Given the description of an element on the screen output the (x, y) to click on. 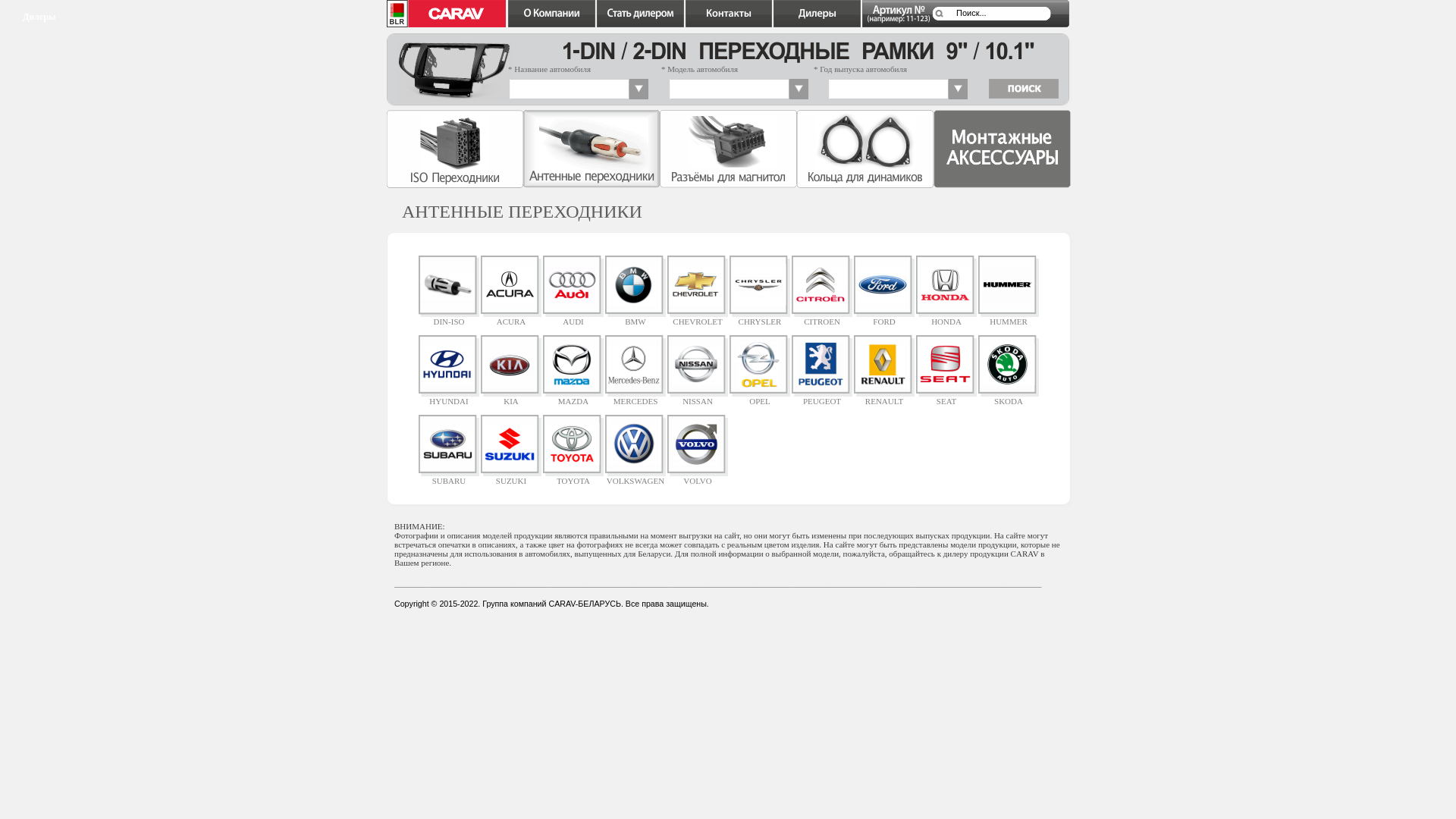
SKODA Element type: text (1008, 397)
NISSAN Element type: text (697, 397)
OPEL Element type: text (759, 397)
VOLVO Element type: text (697, 476)
KIA Element type: text (510, 397)
ACURA Element type: text (510, 317)
HYUNDAI Element type: text (448, 397)
PEUGEOT Element type: text (821, 397)
SUZUKI Element type: text (510, 476)
HONDA Element type: text (946, 317)
VOLKSWAGEN Element type: text (635, 476)
SEAT Element type: text (946, 397)
SUBARU Element type: text (448, 476)
AUDI Element type: text (572, 317)
CHRYSLER Element type: text (759, 317)
MAZDA Element type: text (572, 397)
TOYOTA Element type: text (572, 476)
CITROEN Element type: text (821, 317)
BMW Element type: text (635, 317)
FORD Element type: text (883, 317)
DIN-ISO Element type: text (448, 317)
RENAULT Element type: text (883, 397)
HUMMER Element type: text (1008, 317)
CHEVROLET Element type: text (697, 317)
MERCEDES Element type: text (635, 397)
